Given the description of an element on the screen output the (x, y) to click on. 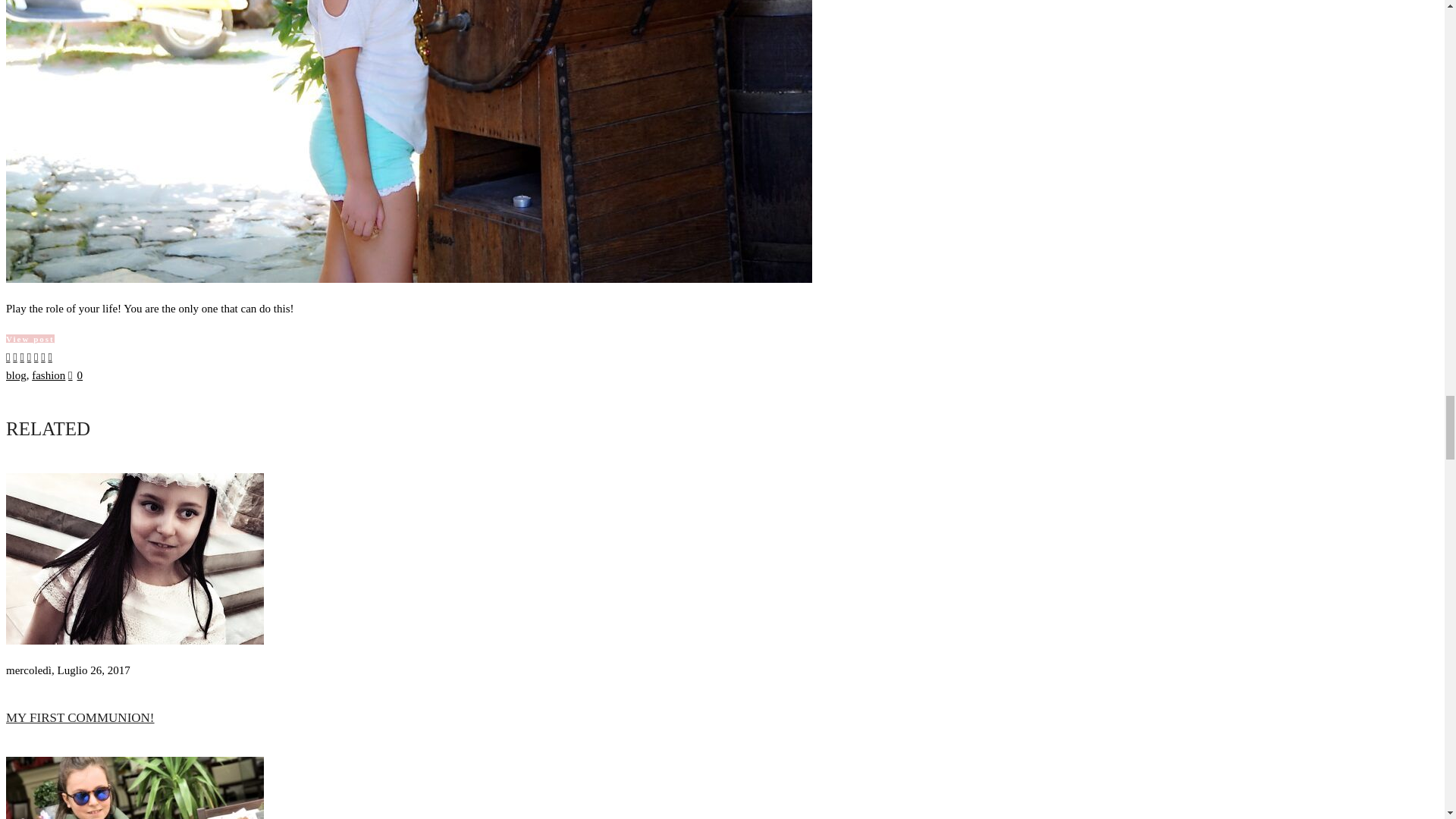
Like this (75, 375)
My first communion! (134, 640)
